Given the description of an element on the screen output the (x, y) to click on. 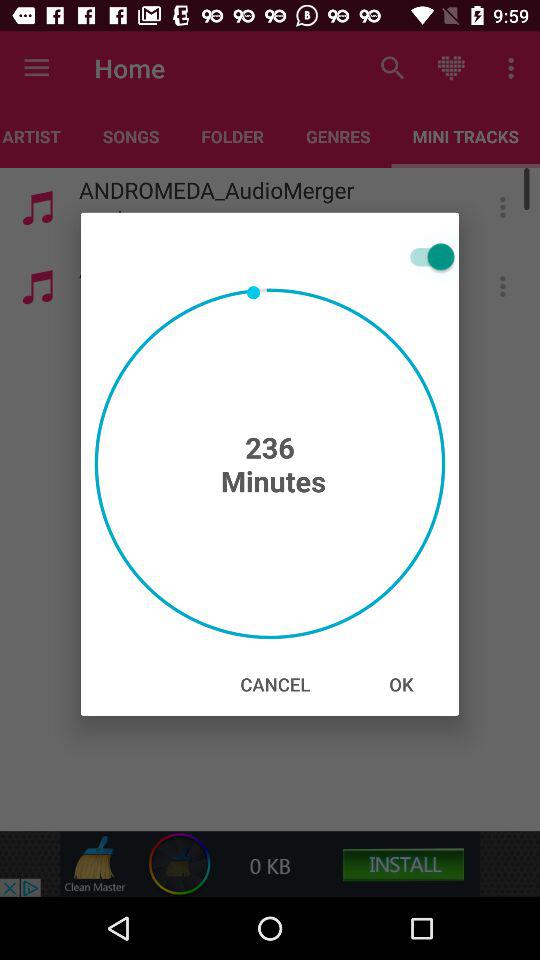
select ok item (401, 683)
